Given the description of an element on the screen output the (x, y) to click on. 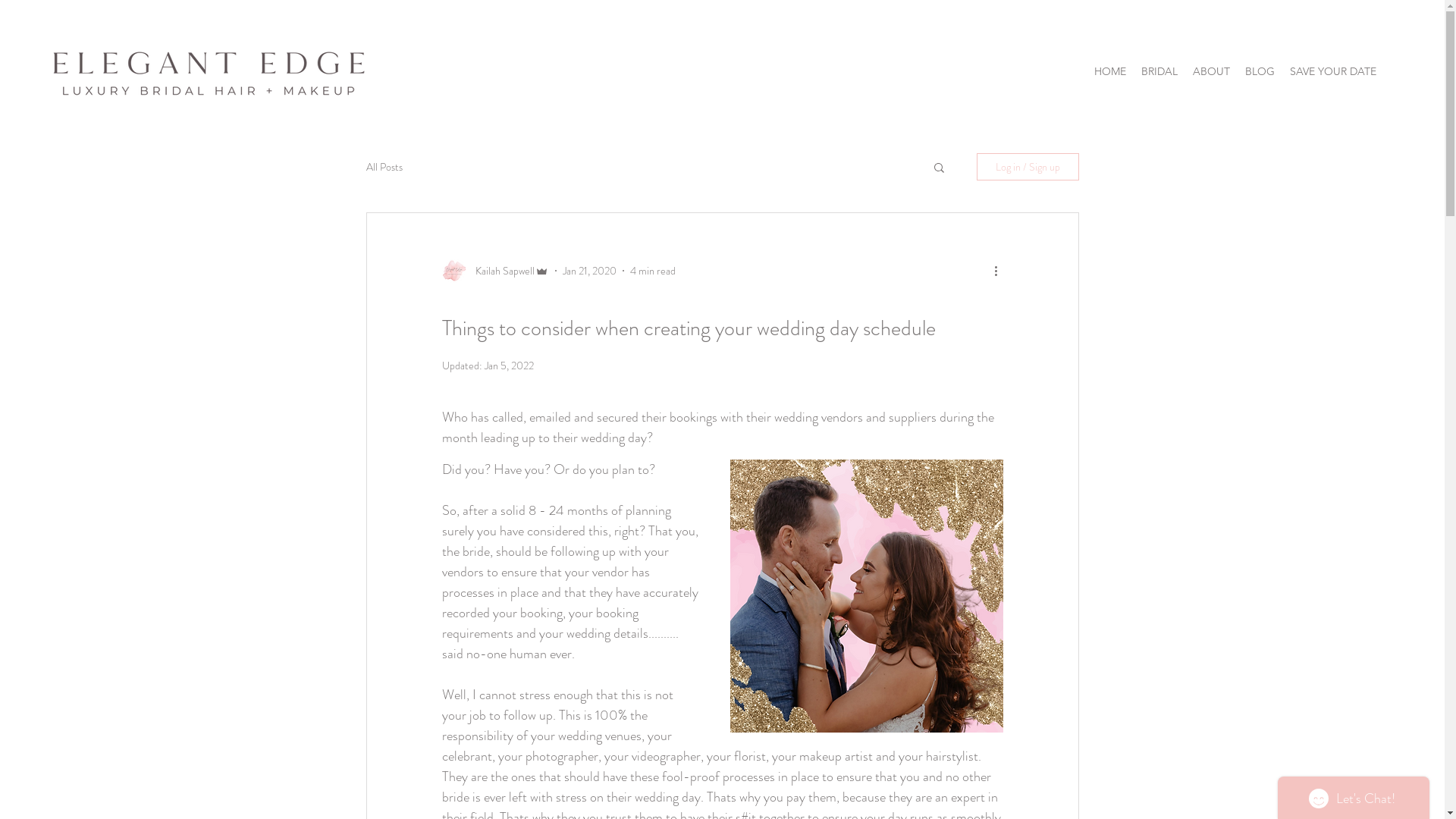
Visitor Analytics Element type: hover (1442, 4)
SAVE YOUR DATE Element type: text (1332, 70)
BLOG Element type: text (1259, 70)
ELEGANT EDGE LOGO_edited.png Element type: hover (212, 72)
BRIDAL Element type: text (1159, 70)
ABOUT Element type: text (1211, 70)
All Posts Element type: text (383, 166)
HOME Element type: text (1109, 70)
Log in / Sign up Element type: text (1027, 166)
Visitor Analytics Element type: hover (1292, 259)
